Given the description of an element on the screen output the (x, y) to click on. 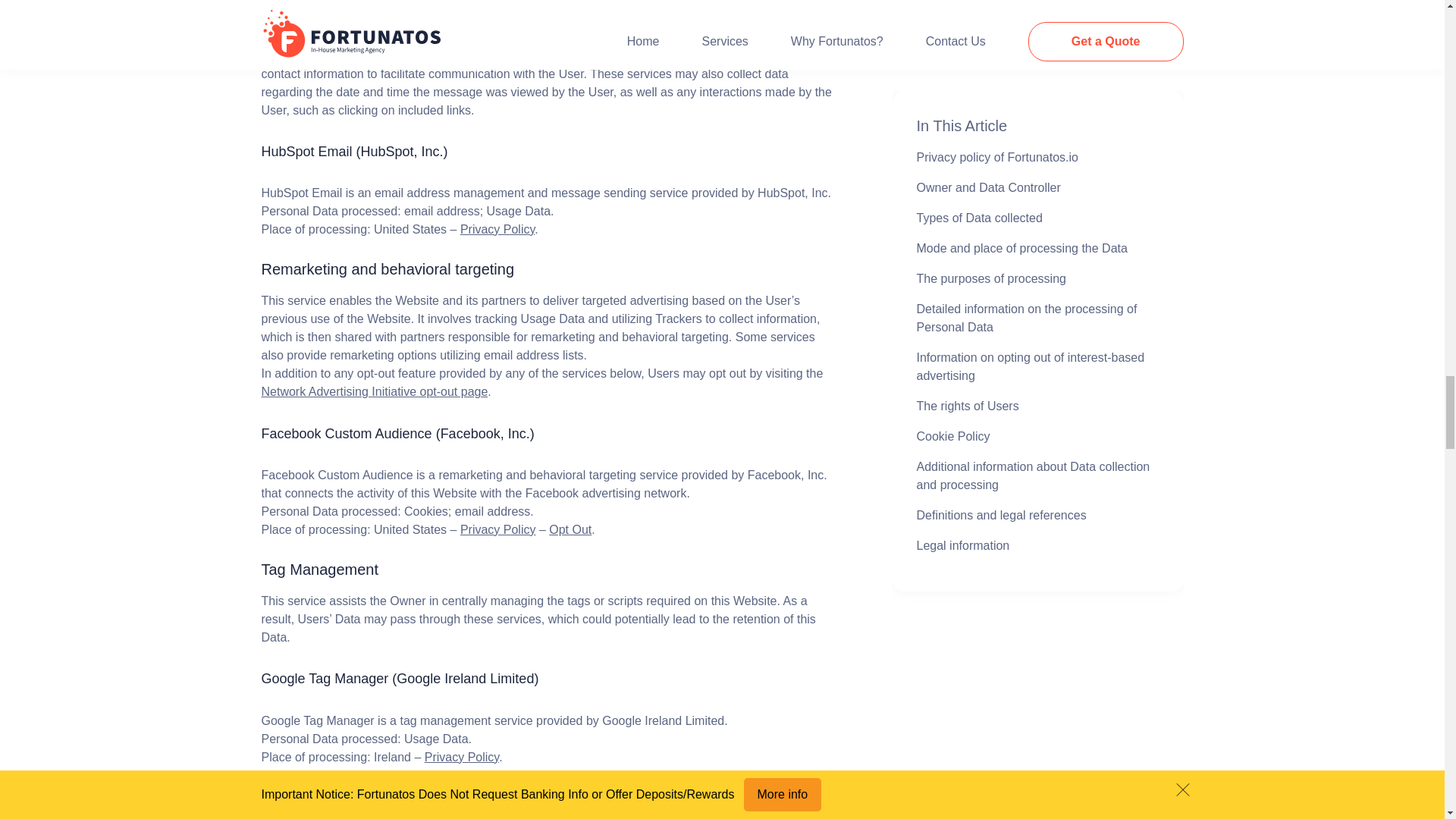
Opt Out (569, 529)
Network Advertising Initiative opt-out page (373, 391)
Privacy Policy (462, 757)
Privacy Policy (497, 529)
Privacy Policy (497, 228)
